Given the description of an element on the screen output the (x, y) to click on. 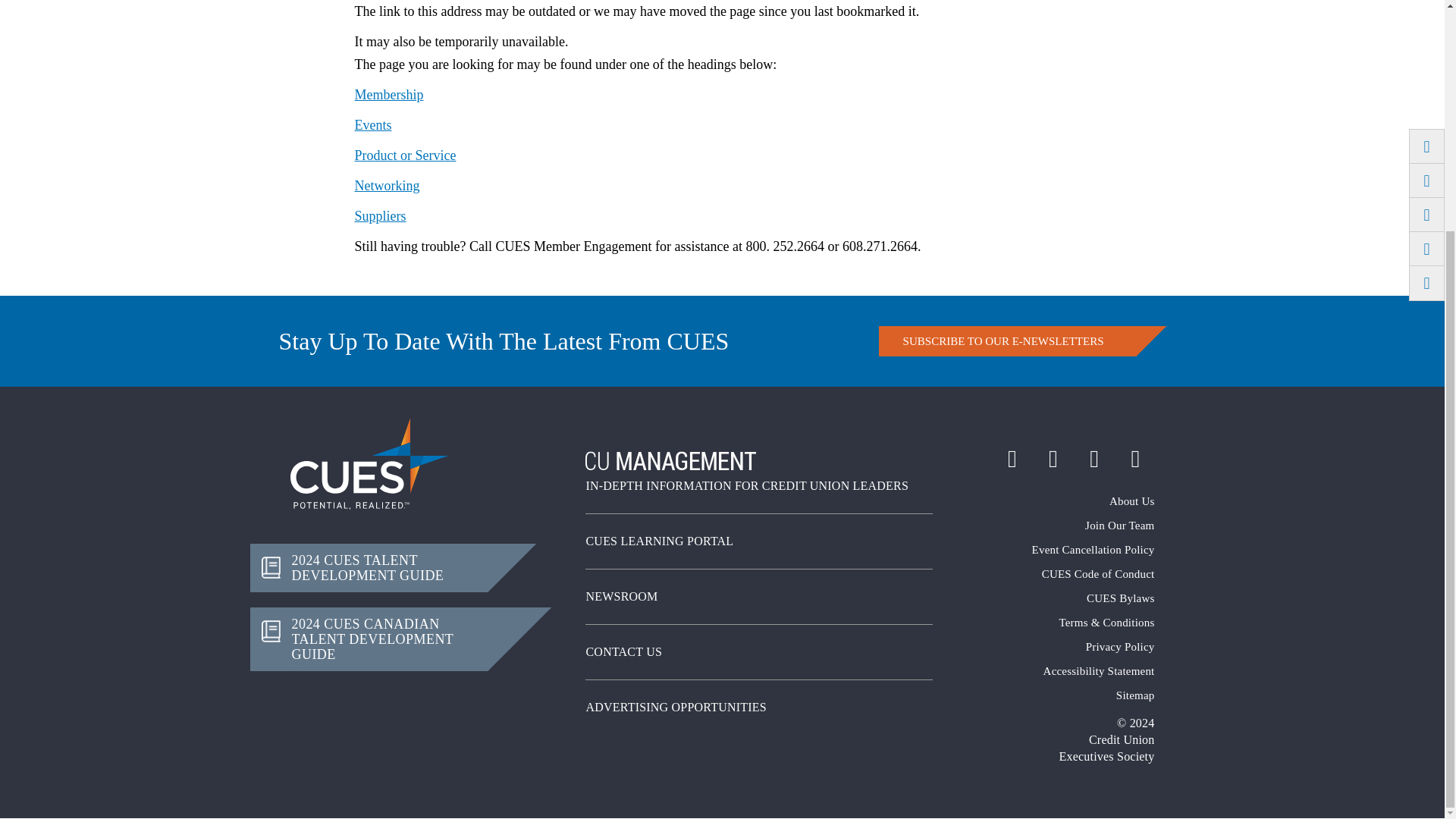
CUES Careers (1054, 525)
